Given the description of an element on the screen output the (x, y) to click on. 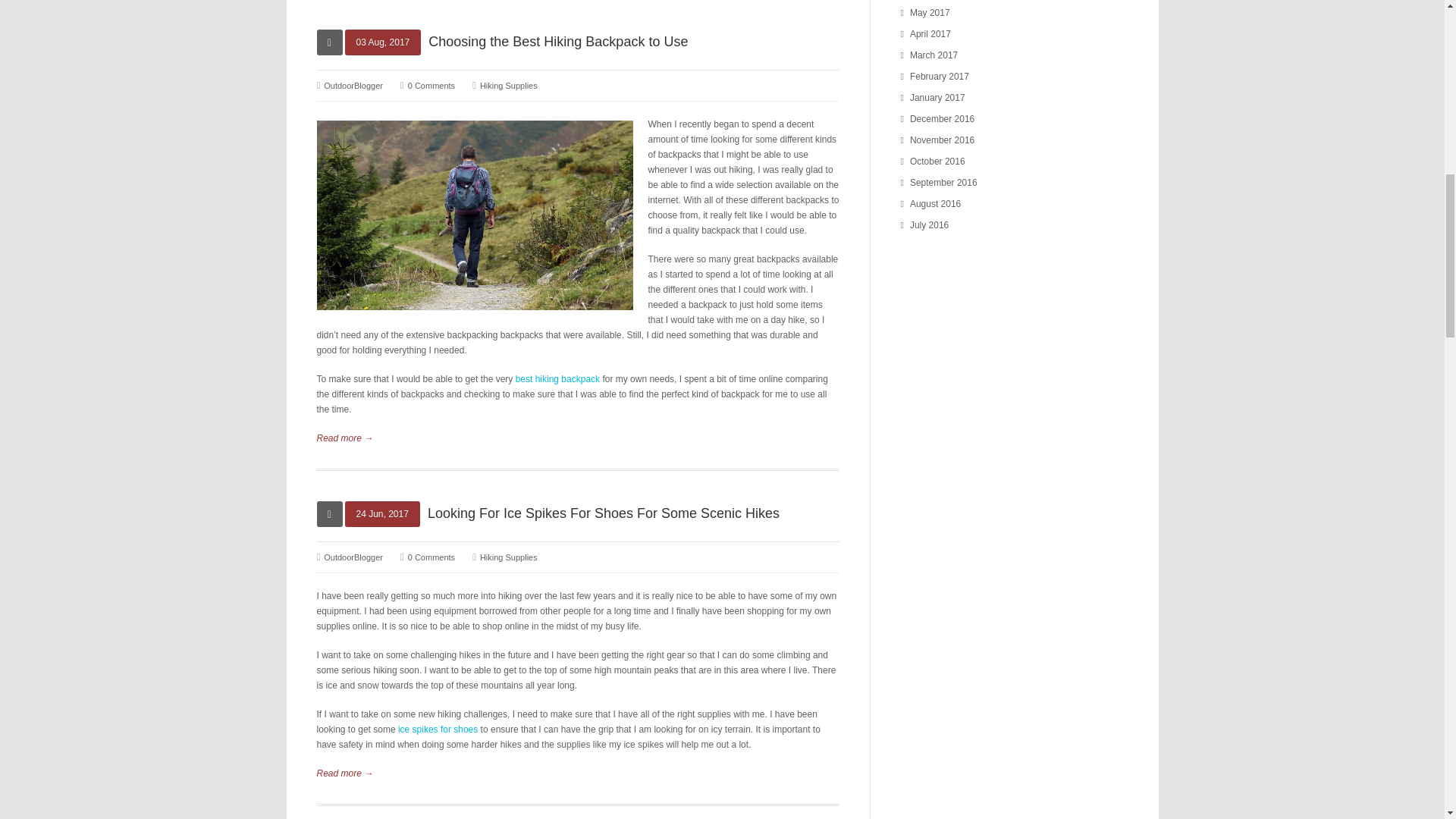
OutdoorBlogger (352, 85)
Hiking Supplies (508, 85)
Permanent Link to Choosing the Best Hiking Backpack to Use (557, 41)
Choosing the Best Hiking Backpack to Use (557, 41)
ice spikes for shoes (437, 728)
best hiking backpack (557, 378)
Hiking Supplies (508, 556)
Posts by OutdoorBlogger (352, 85)
0 Comments (430, 85)
best hiking backpack (475, 215)
